Given the description of an element on the screen output the (x, y) to click on. 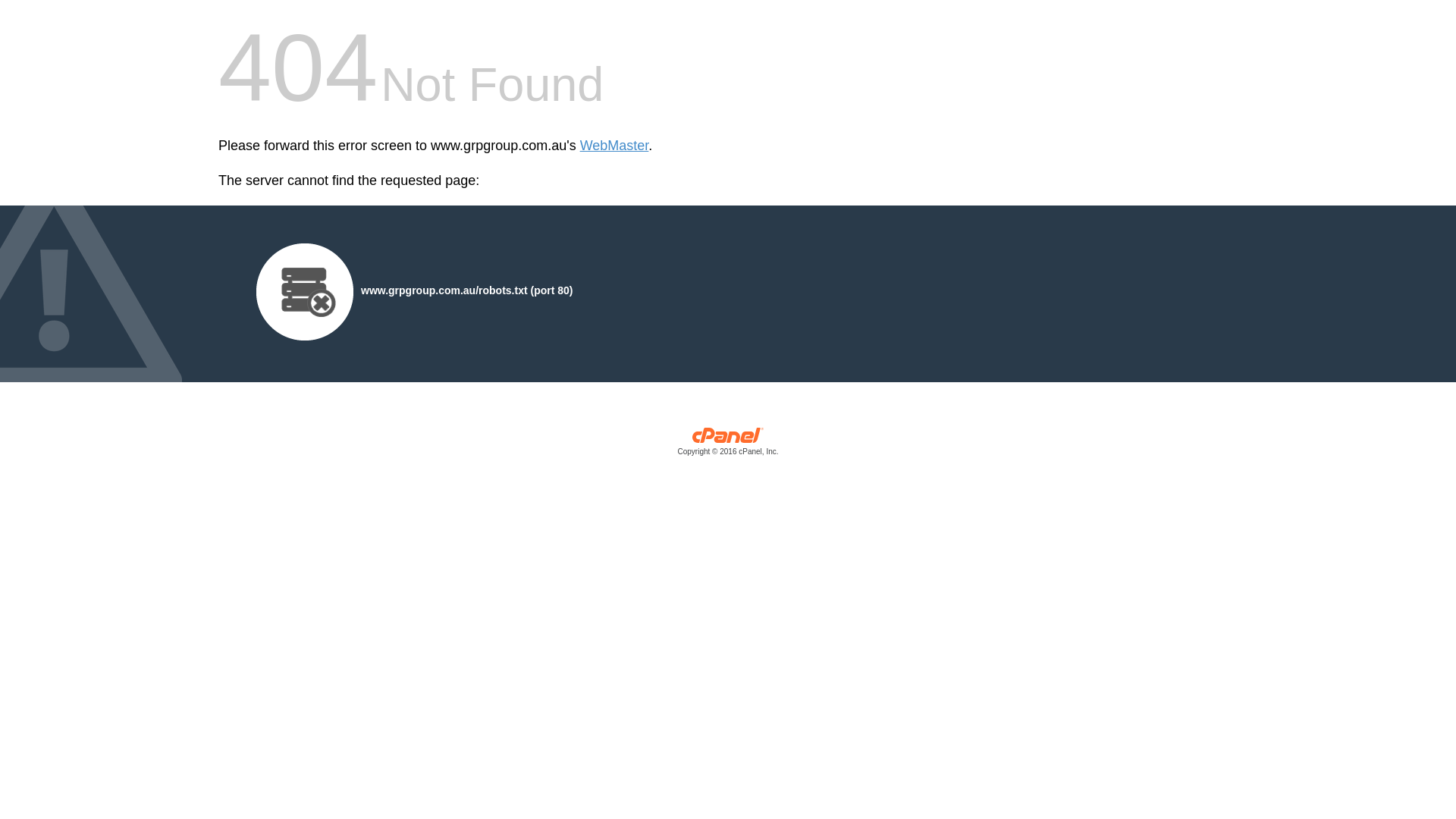
WebMaster Element type: text (614, 145)
